Given the description of an element on the screen output the (x, y) to click on. 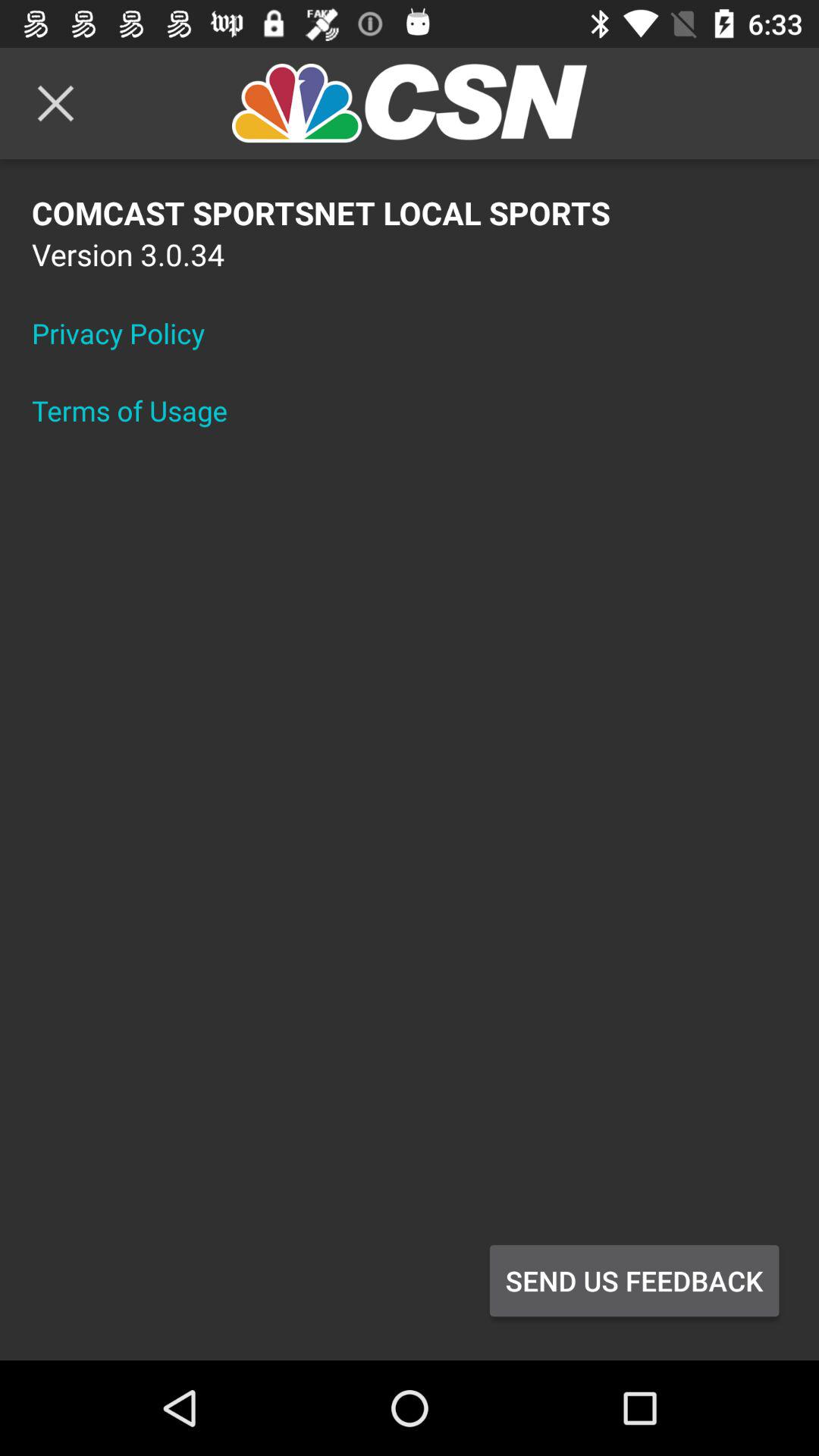
jump until the privacy policy (127, 332)
